Given the description of an element on the screen output the (x, y) to click on. 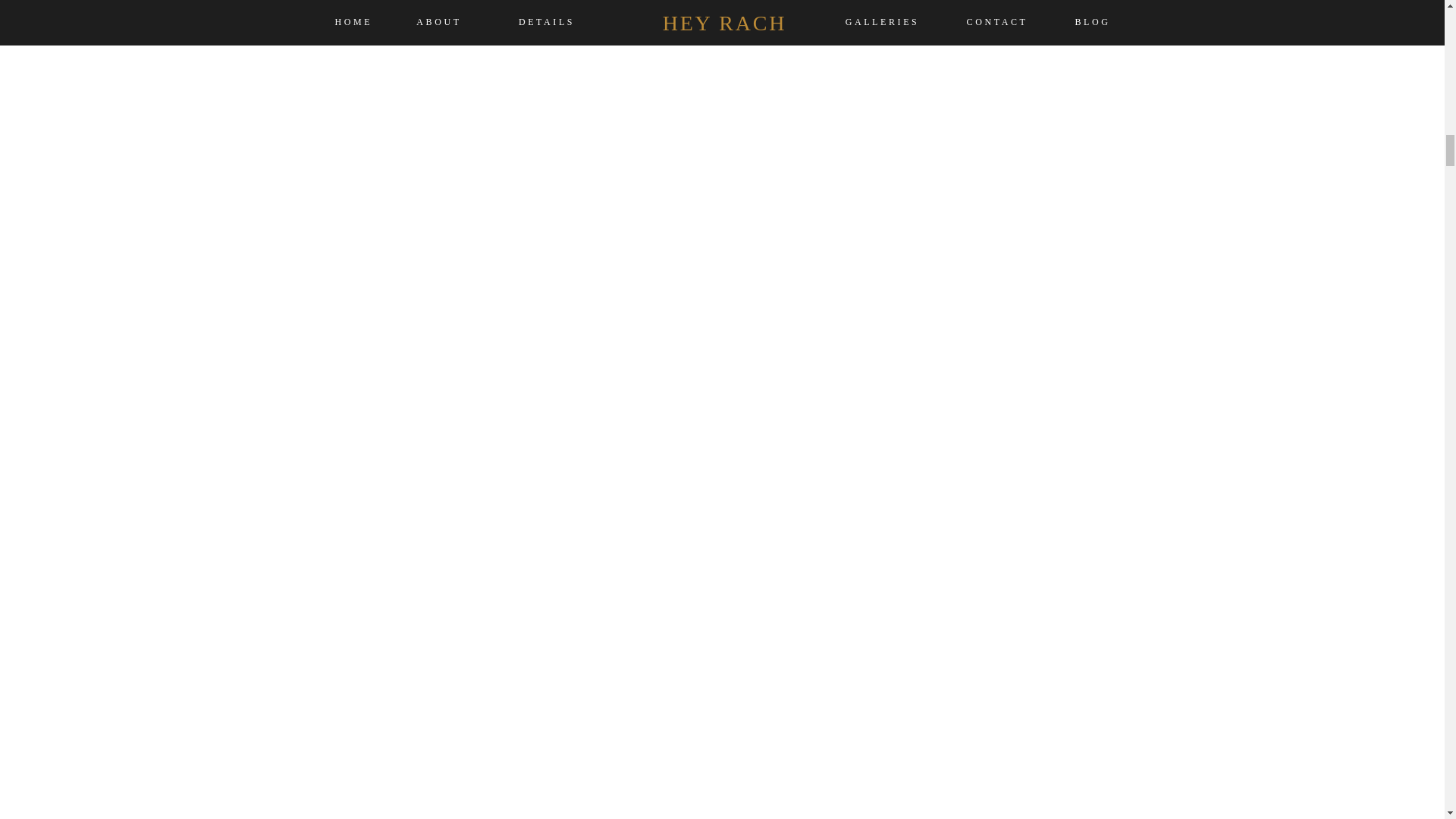
baylie-2-10 (936, 296)
baylie-2938 (721, 74)
baylie-2-9 (624, 296)
